Given the description of an element on the screen output the (x, y) to click on. 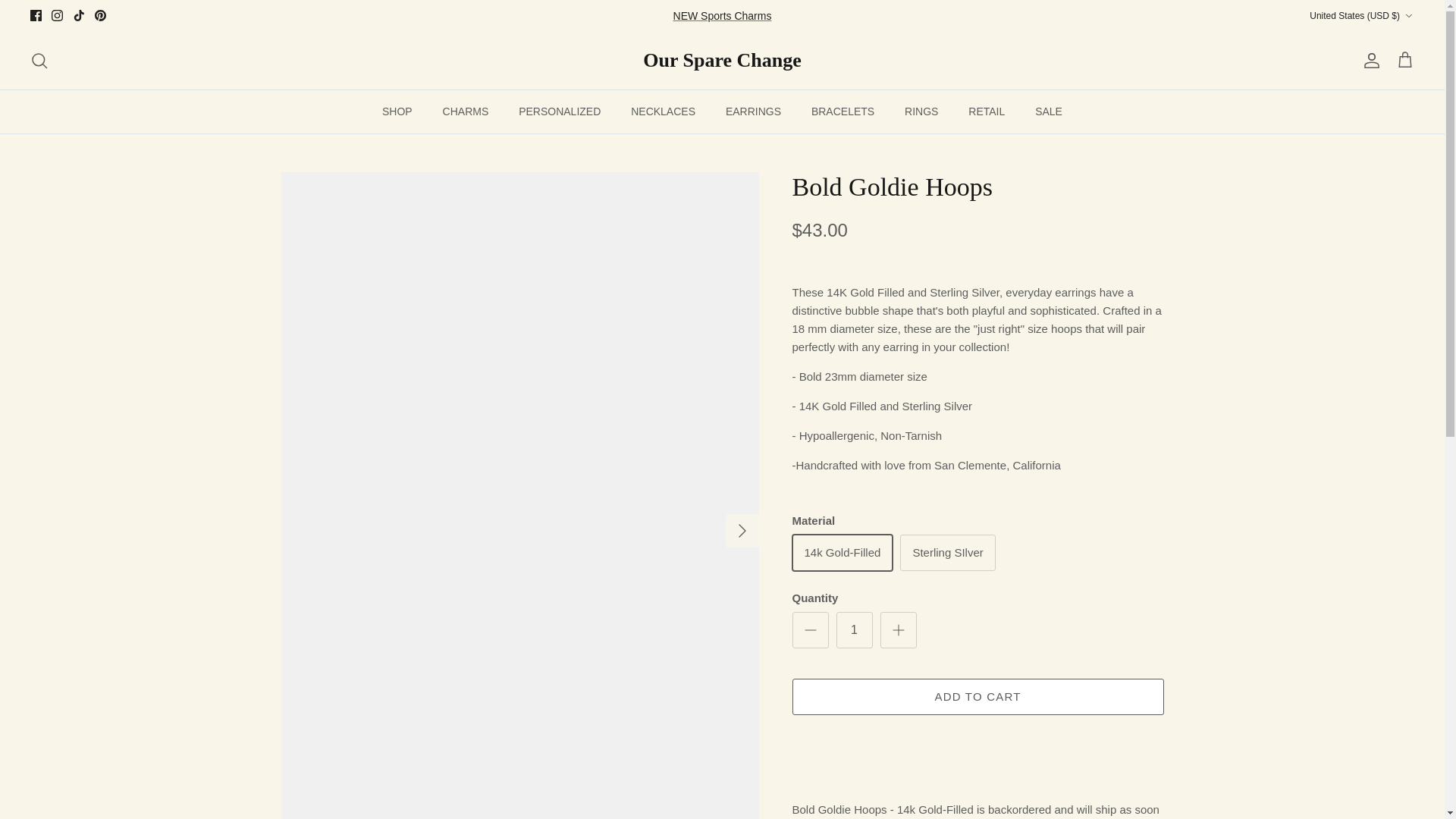
Down (1408, 15)
Instagram (56, 15)
Pinterest (100, 15)
Instagram (56, 15)
1 (853, 629)
Plus (897, 629)
Facebook (36, 15)
Facebook (36, 15)
Pinterest (100, 15)
RIGHT (741, 530)
Minus (809, 629)
NEW Sports Charms (721, 15)
Our Spare Change (722, 60)
